Given the description of an element on the screen output the (x, y) to click on. 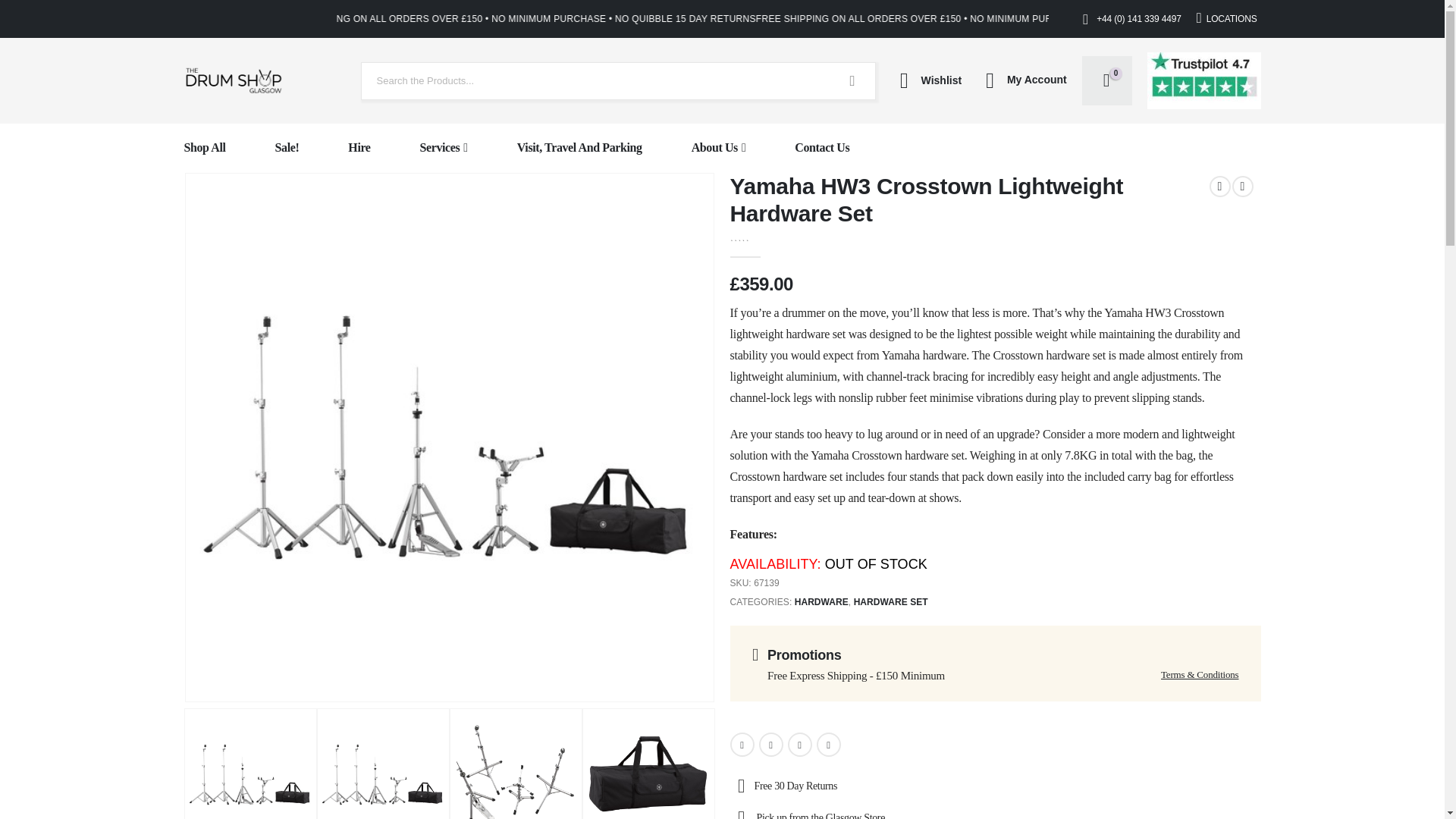
Facebook (741, 744)
Services (443, 147)
trust-pilot4.7 (1203, 80)
About Us (718, 147)
Drum Shop Glasgow - Drum and Percussion sales and hire (232, 80)
HARDWARE (821, 602)
Search (852, 80)
LinkedIn (799, 744)
Facebook (741, 744)
